Given the description of an element on the screen output the (x, y) to click on. 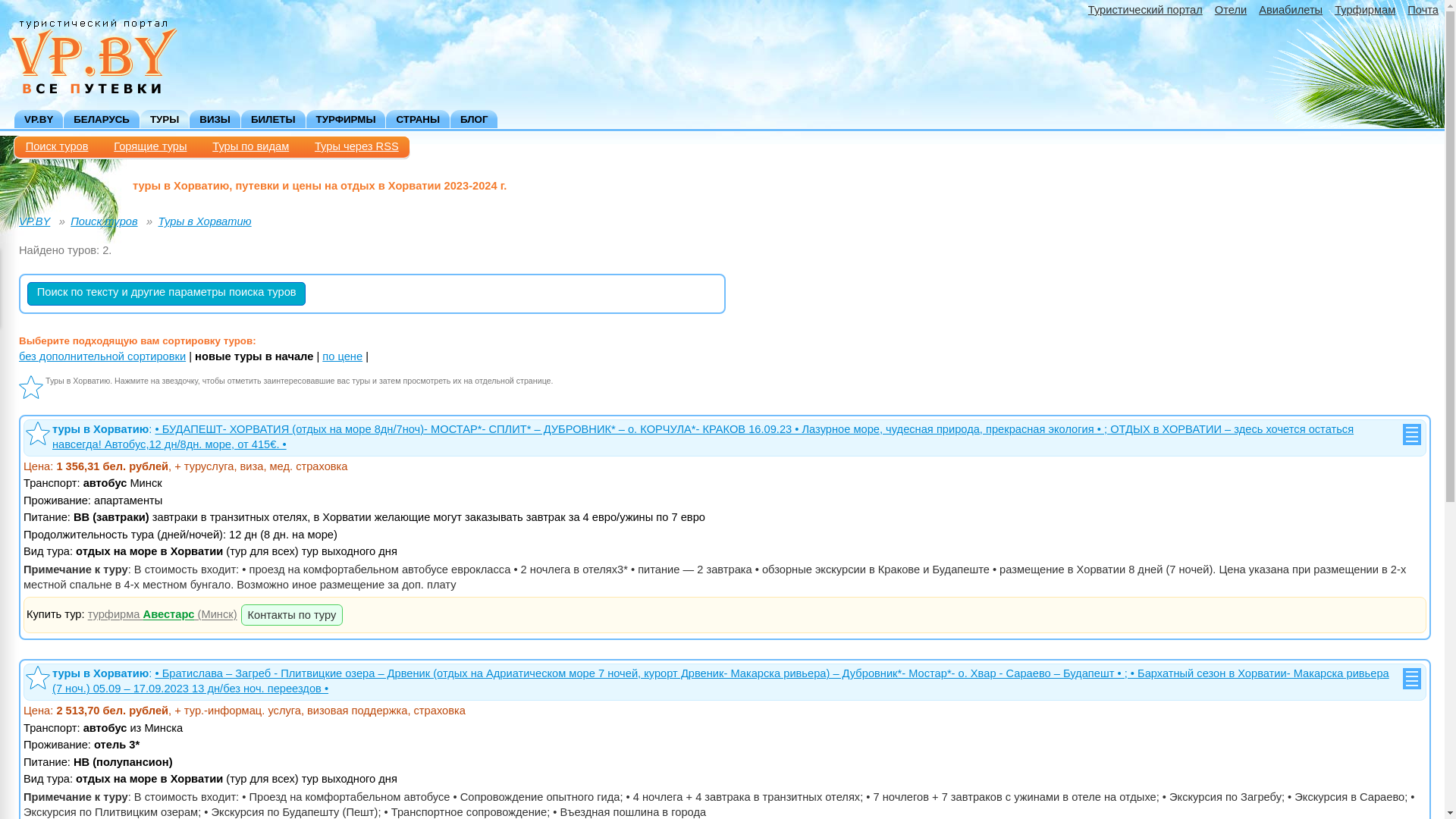
VP.BY Element type: text (34, 221)
VP.BY Element type: text (38, 118)
